Given the description of an element on the screen output the (x, y) to click on. 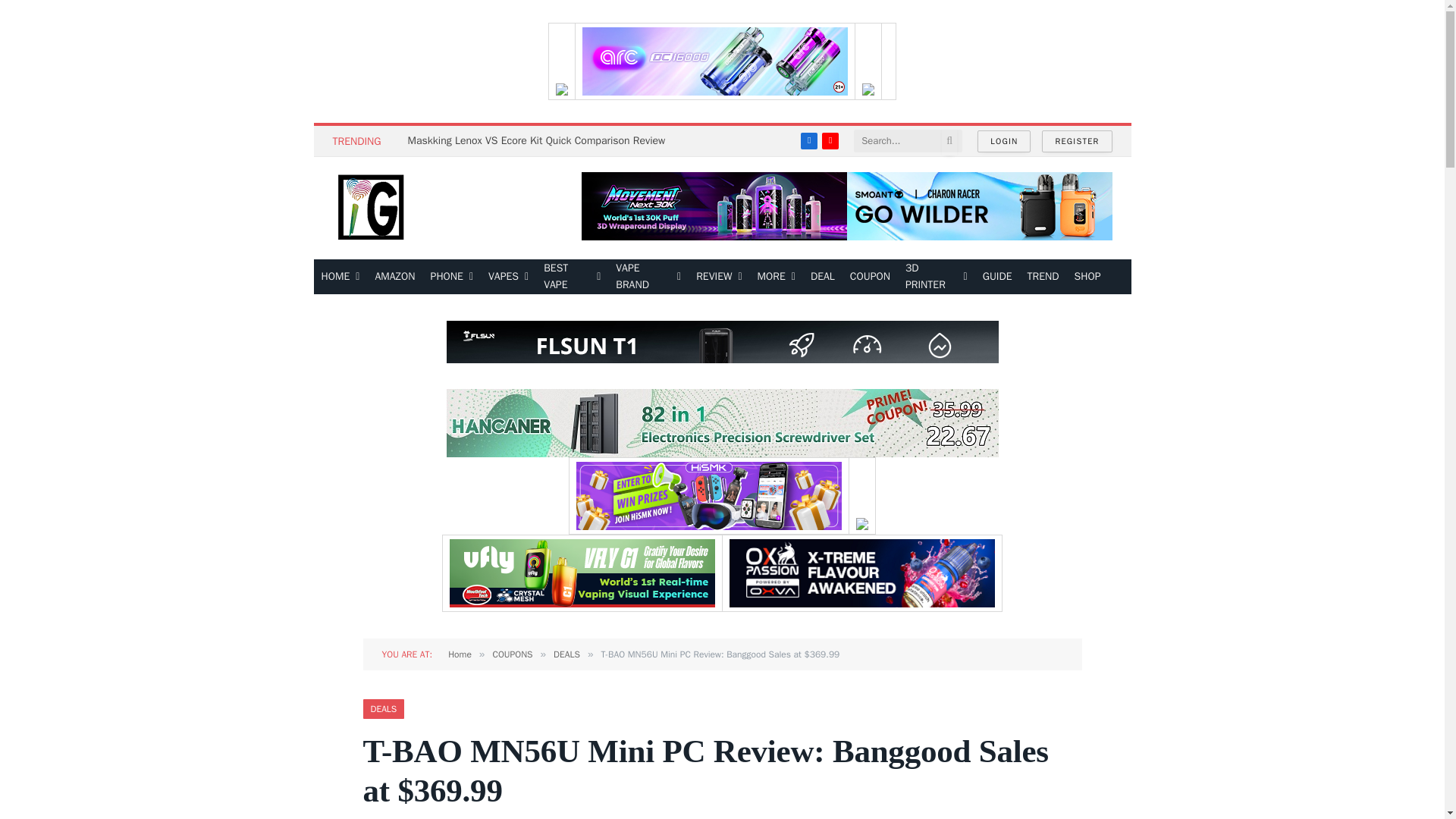
PHONE (451, 276)
Facebook (808, 140)
AMAZON (394, 276)
LOGIN (1003, 141)
YouTube (830, 140)
HOME (341, 276)
Maskking Lenox VS Ecore Kit Quick Comparison Review (539, 141)
REGISTER (1077, 141)
